Given the description of an element on the screen output the (x, y) to click on. 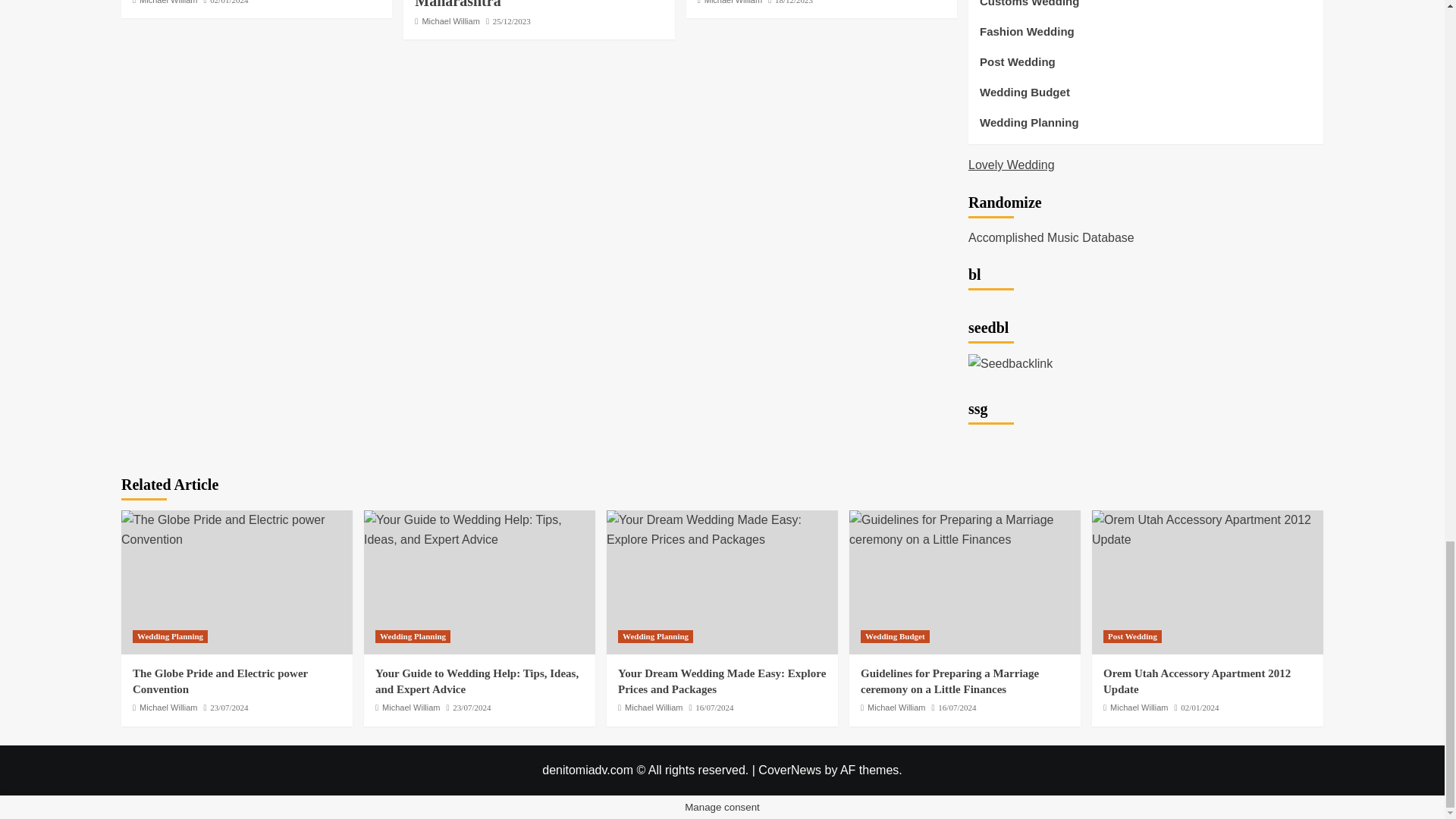
Seedbacklink (1010, 363)
Your Guide to Wedding Help: Tips, Ideas, and Expert Advice (479, 529)
Orem Utah Accessory Apartment 2012 Update (1207, 529)
Your Dream Wedding Made Easy: Explore Prices and Packages (722, 529)
Michael William (732, 2)
The Globe Pride and Electric power Convention (236, 529)
Michael William (167, 2)
Michael William (450, 20)
Jain Matrimonial Customs in Maharashtra (509, 4)
